Given the description of an element on the screen output the (x, y) to click on. 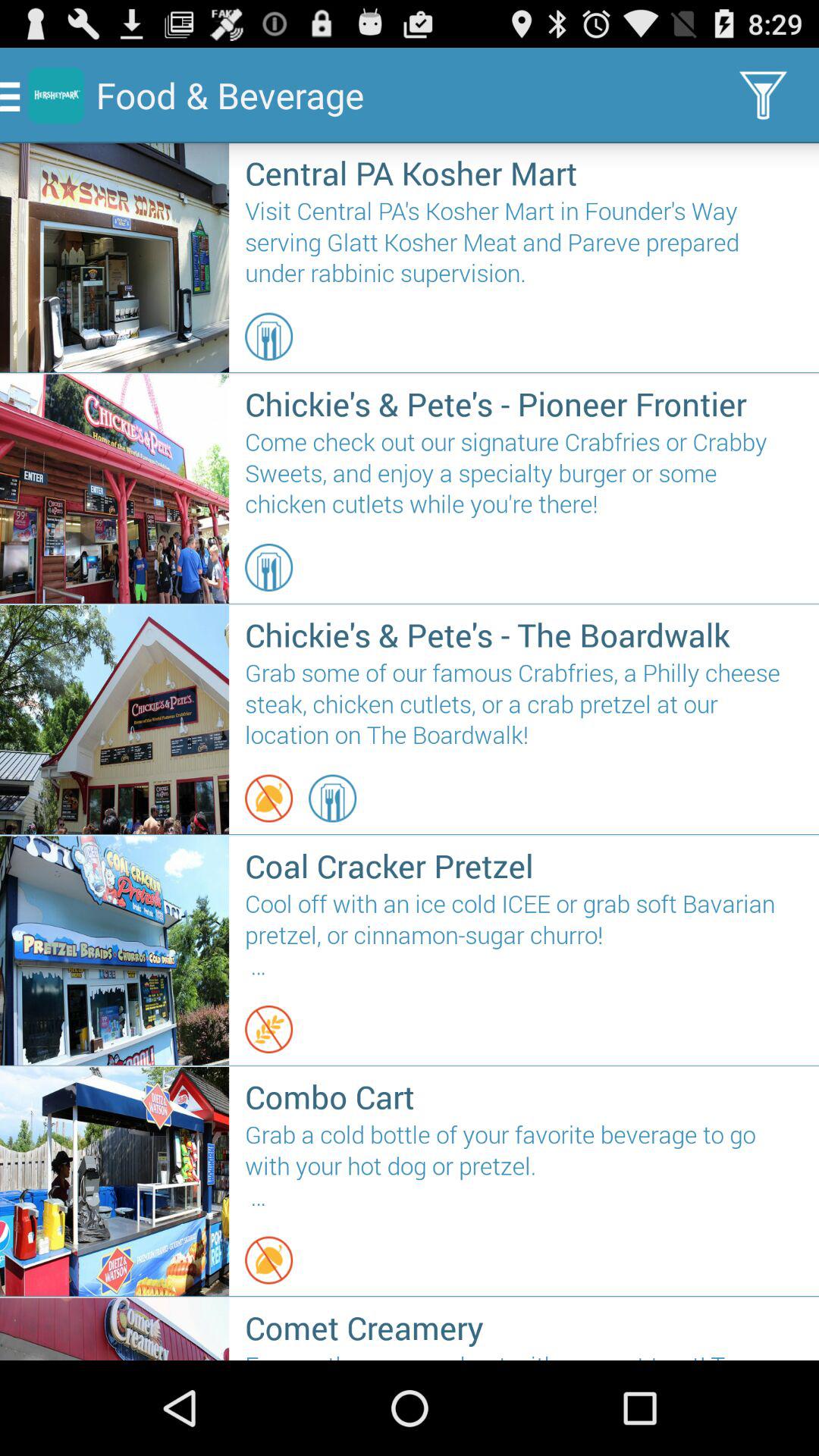
turn on icon below the grab a cold (268, 1260)
